Given the description of an element on the screen output the (x, y) to click on. 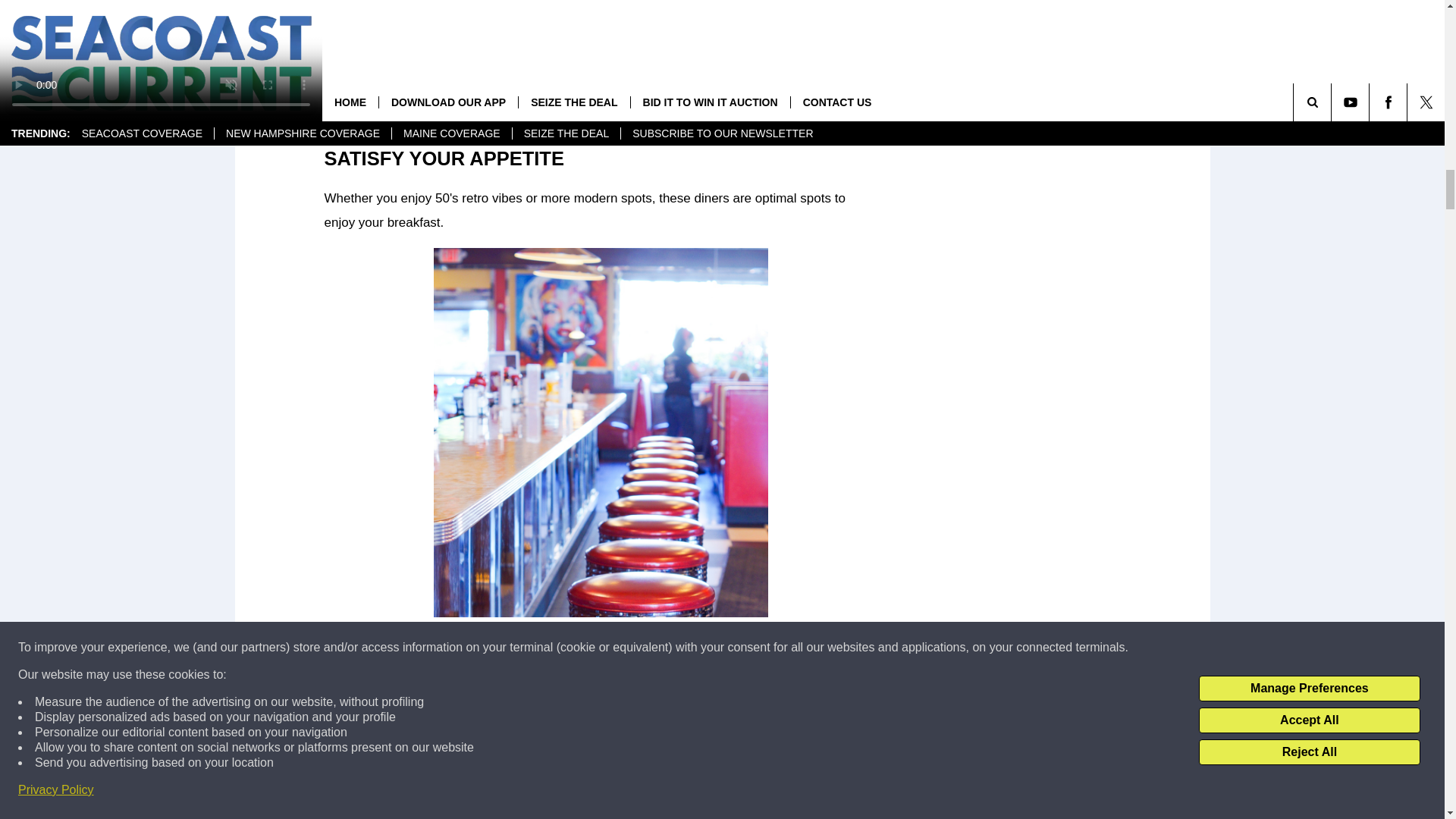
Email Address (600, 56)
